Given the description of an element on the screen output the (x, y) to click on. 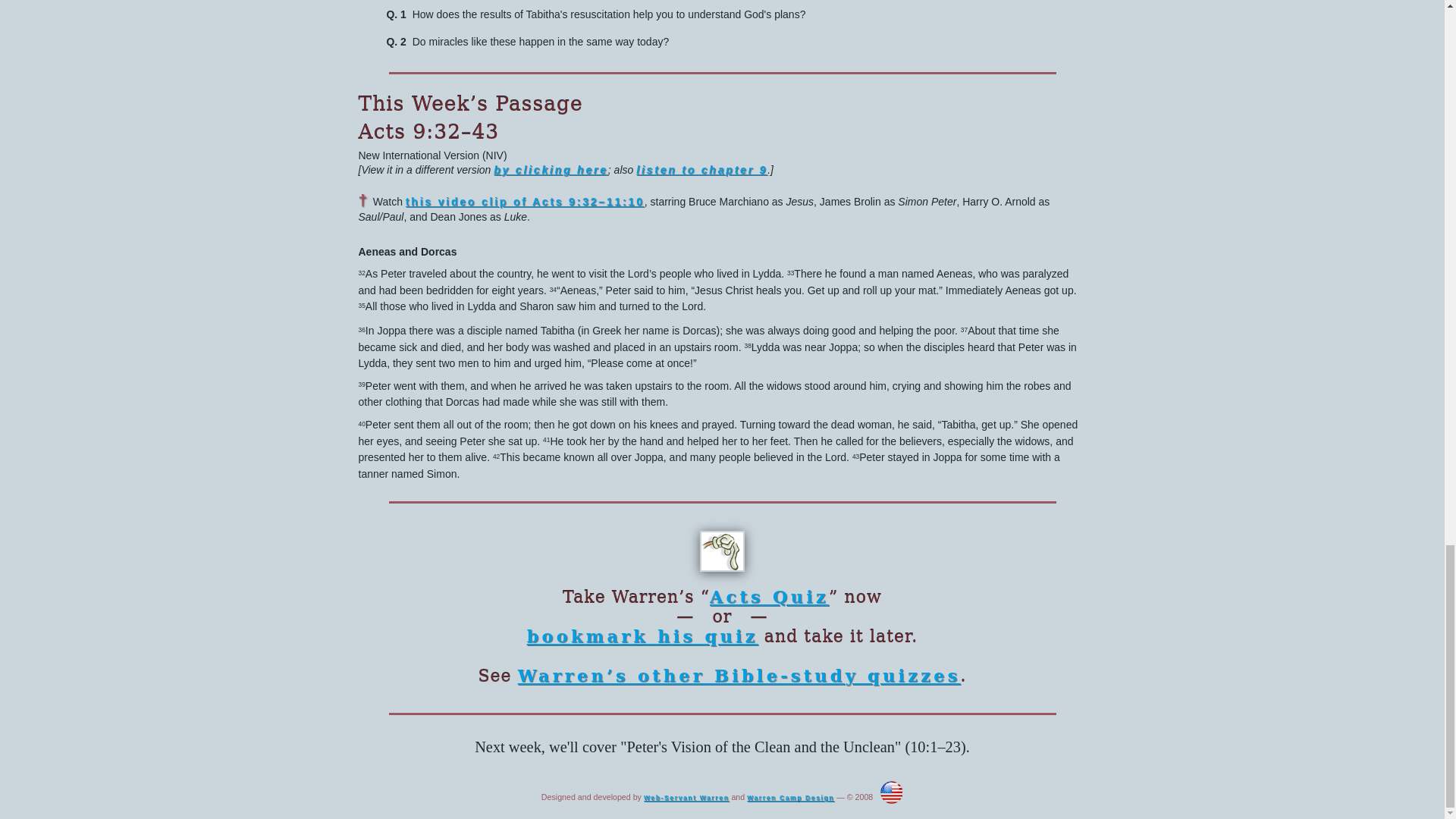
listen to chapter 9 (701, 169)
by clicking here (550, 169)
